Given the description of an element on the screen output the (x, y) to click on. 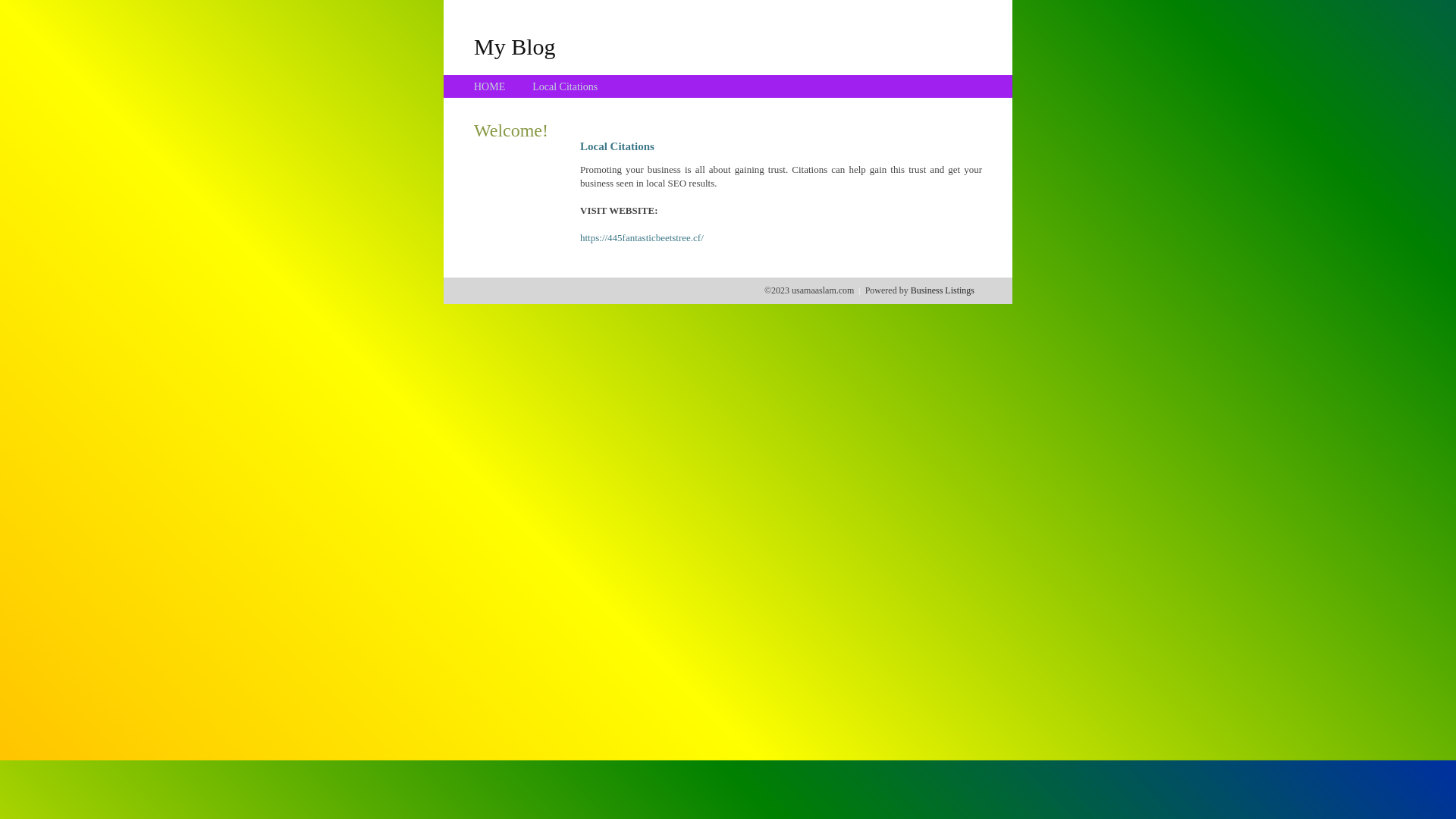
HOME Element type: text (489, 86)
https://445fantasticbeetstree.cf/ Element type: text (641, 237)
Business Listings Element type: text (942, 290)
Local Citations Element type: text (564, 86)
My Blog Element type: text (514, 46)
